Given the description of an element on the screen output the (x, y) to click on. 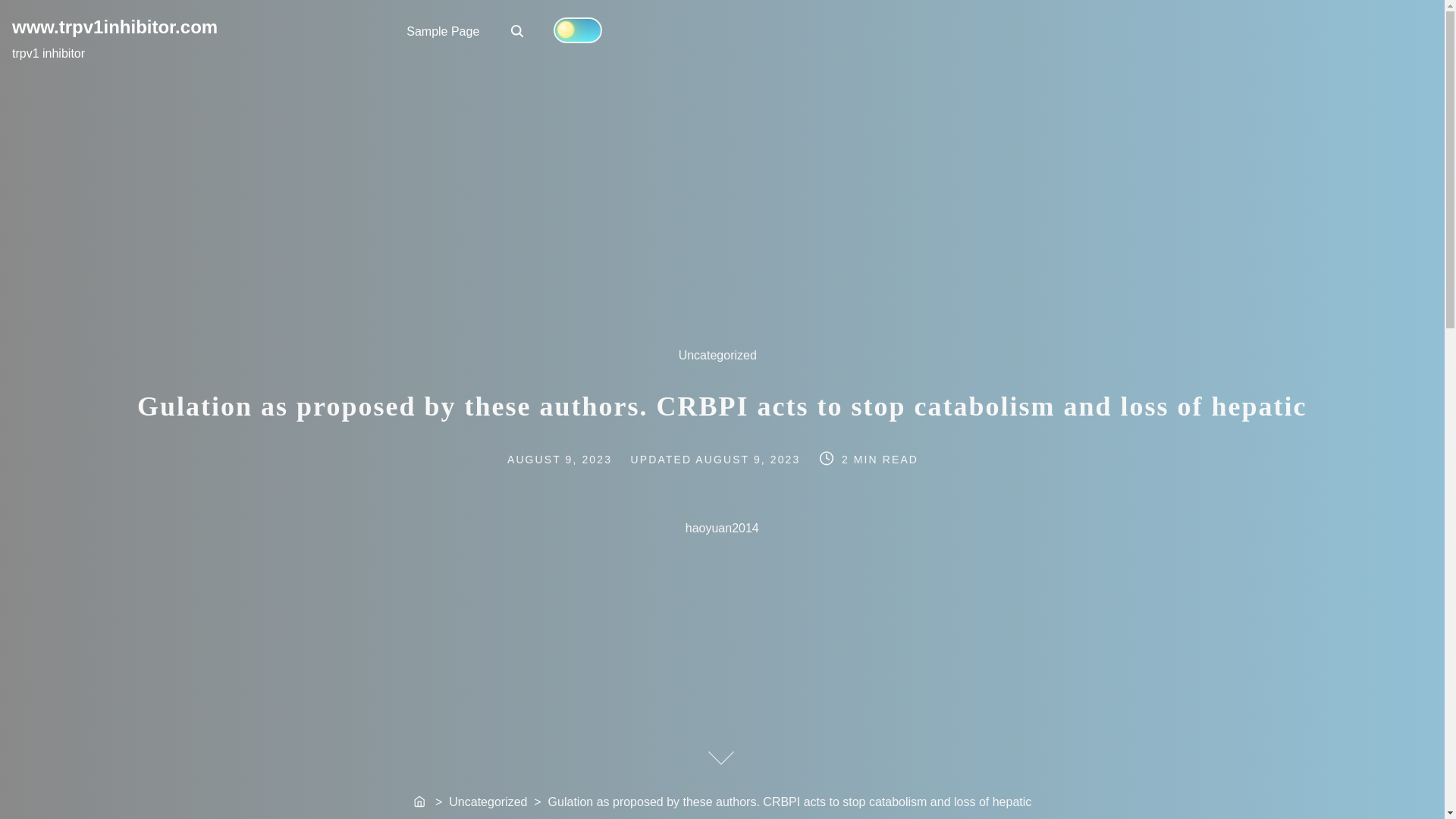
Sample Page (443, 30)
AUGUST 9, 2023 (577, 458)
Search (516, 30)
www.trpv1inhibitor.com (113, 26)
Home (518, 31)
AUGUST 9, 2023 (420, 802)
Uncategorized (749, 458)
